Given the description of an element on the screen output the (x, y) to click on. 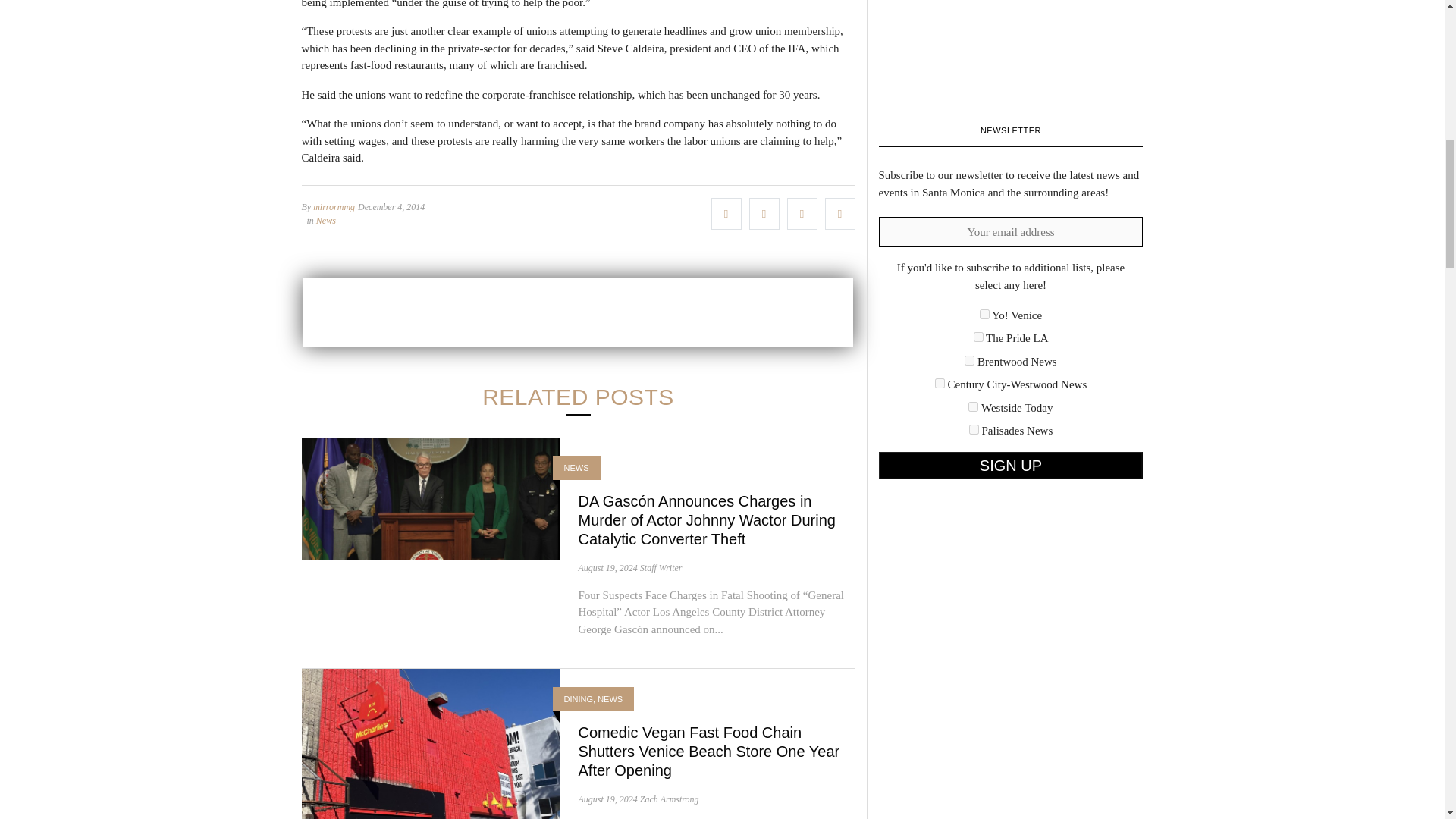
News (325, 220)
382281a661 (968, 360)
33f79e7e4d (979, 337)
Posts by mirrormmg (334, 206)
Sign up (1009, 465)
5fac618226 (939, 383)
mirrormmg (334, 206)
ec7d882848 (973, 429)
3rd party ad content (577, 311)
